Given the description of an element on the screen output the (x, y) to click on. 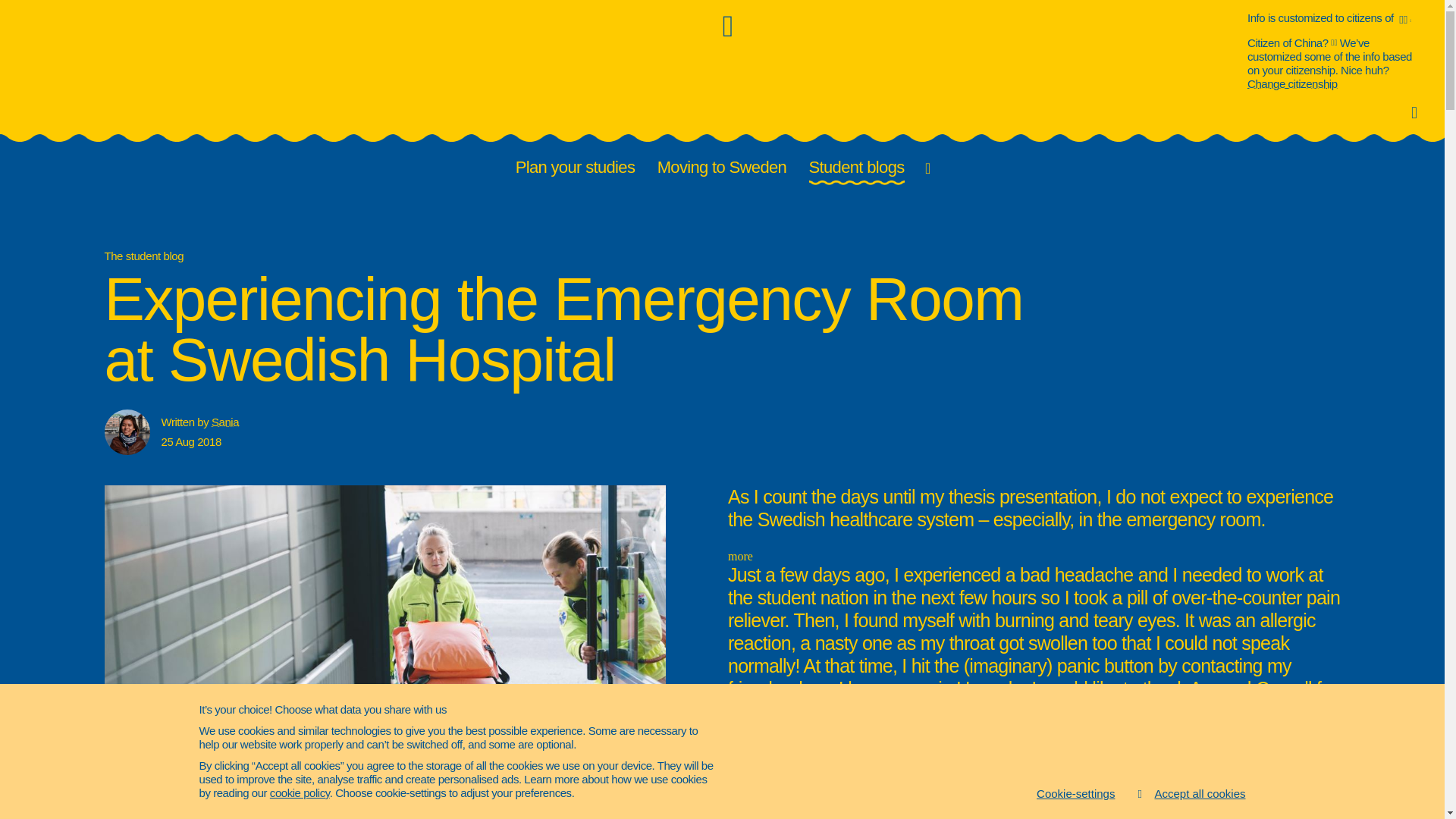
Plan your studies  (577, 168)
Moving to Sweden  (724, 168)
Sania (224, 421)
Cookie-settings (1075, 793)
Change citizenship (1292, 83)
Student blogs  (858, 168)
cookie policy (299, 792)
